Given the description of an element on the screen output the (x, y) to click on. 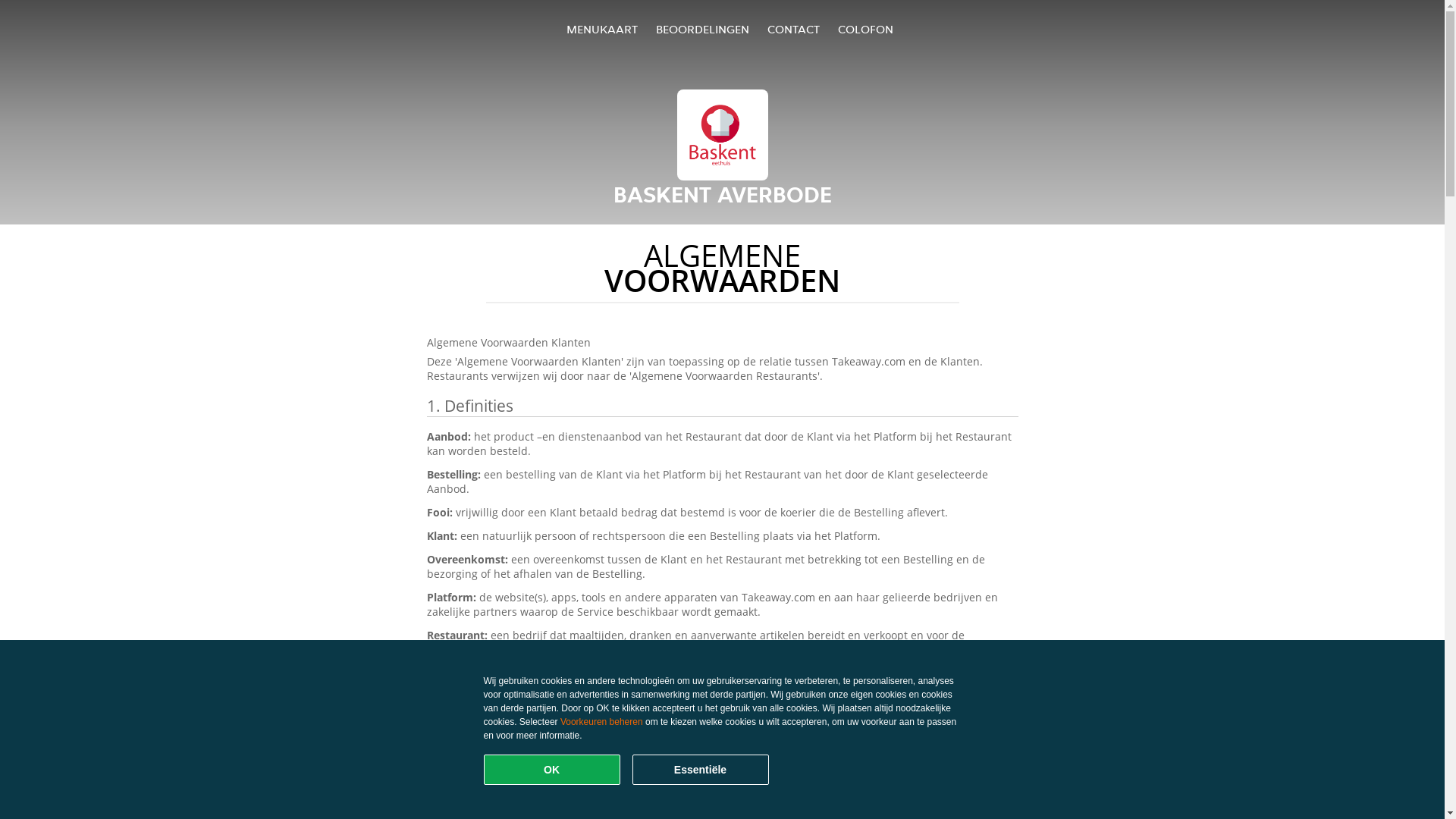
COLOFON Element type: text (865, 29)
MENUKAART Element type: text (601, 29)
Voorkeuren beheren Element type: text (601, 721)
BEOORDELINGEN Element type: text (702, 29)
OK Element type: text (551, 769)
CONTACT Element type: text (793, 29)
